Given the description of an element on the screen output the (x, y) to click on. 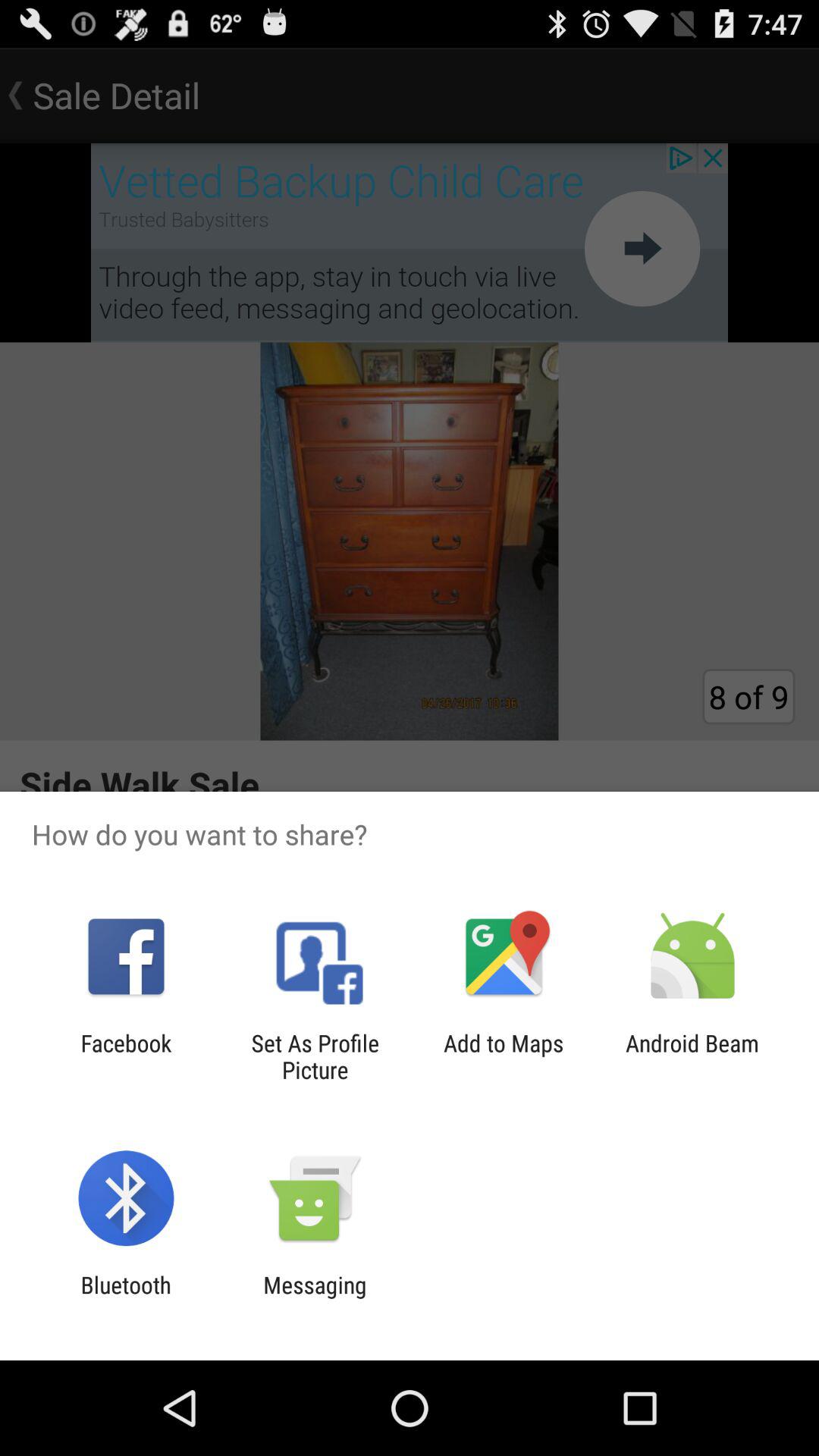
select the set as profile (314, 1056)
